Given the description of an element on the screen output the (x, y) to click on. 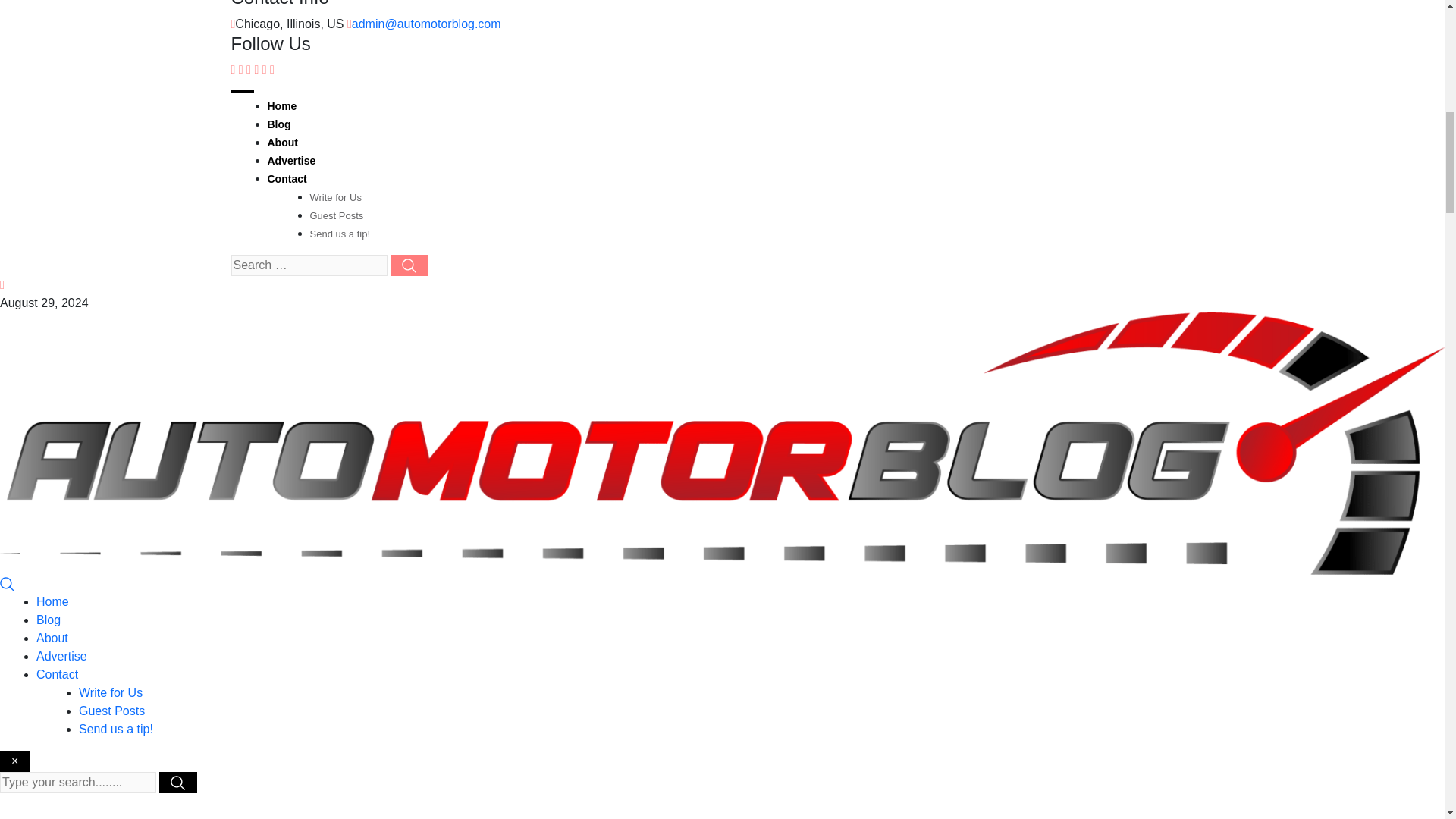
Guest Posts (335, 215)
Home (52, 601)
Advertise (290, 160)
Contact (285, 178)
Write for Us (110, 692)
Blog (48, 619)
Contact (57, 674)
Advertise (61, 656)
Write for Us (334, 197)
